Given the description of an element on the screen output the (x, y) to click on. 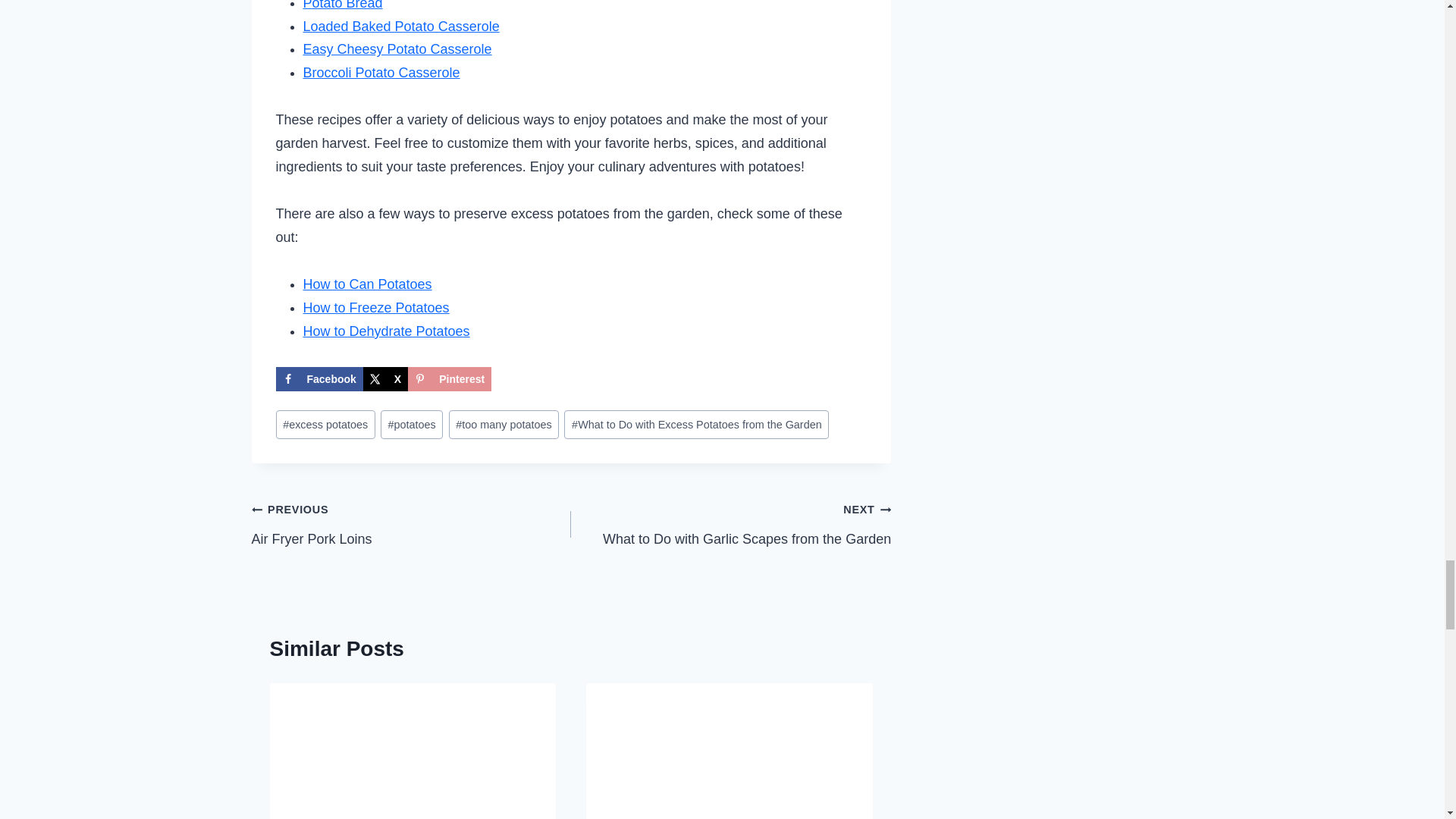
Easy Cheesy Potato Casserole (397, 48)
too many potatoes (503, 424)
Share on Facebook (319, 378)
Loaded Baked Potato Casserole (400, 26)
excess potatoes (325, 424)
Broccoli Potato Casserole (381, 72)
Save to Pinterest (449, 378)
potatoes (411, 424)
Share on X (384, 378)
What to Do with Excess Potatoes from the Garden (696, 424)
